Given the description of an element on the screen output the (x, y) to click on. 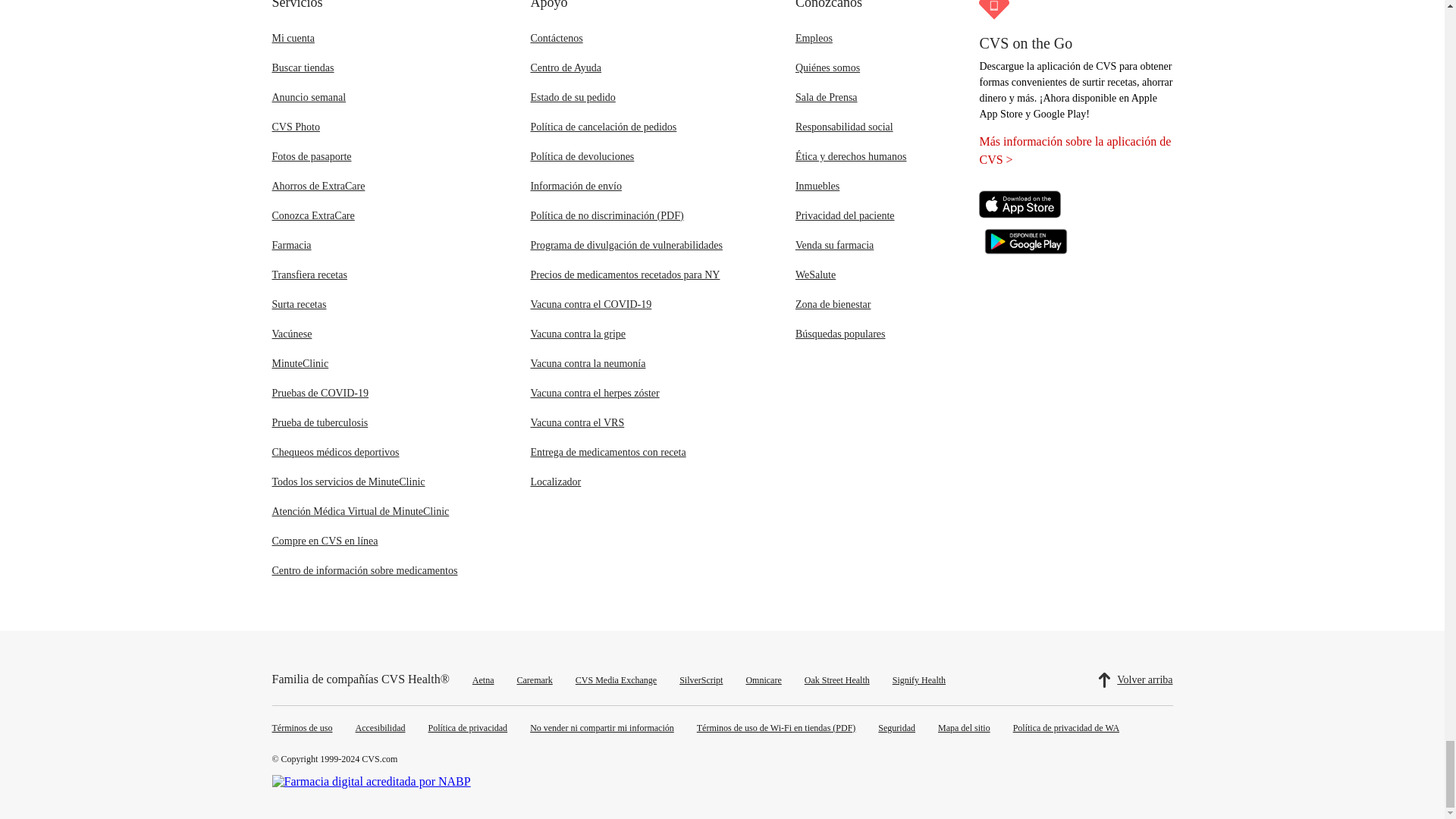
Mi cuenta (292, 38)
Conozca ExtraCare (311, 215)
Buscar tiendas (301, 67)
CVS Photo (294, 126)
Prueba de tuberculosis (319, 422)
Transfiera recetas (308, 274)
Ahorros de ExtraCare (317, 185)
Anuncio semanal (308, 97)
MinuteClinic (299, 363)
Fotos de pasaporte (310, 156)
Farmacia (290, 244)
Todos los servicios de MinuteClinic (347, 481)
Surta recetas (298, 304)
Pruebas de COVID-19 (319, 392)
